Given the description of an element on the screen output the (x, y) to click on. 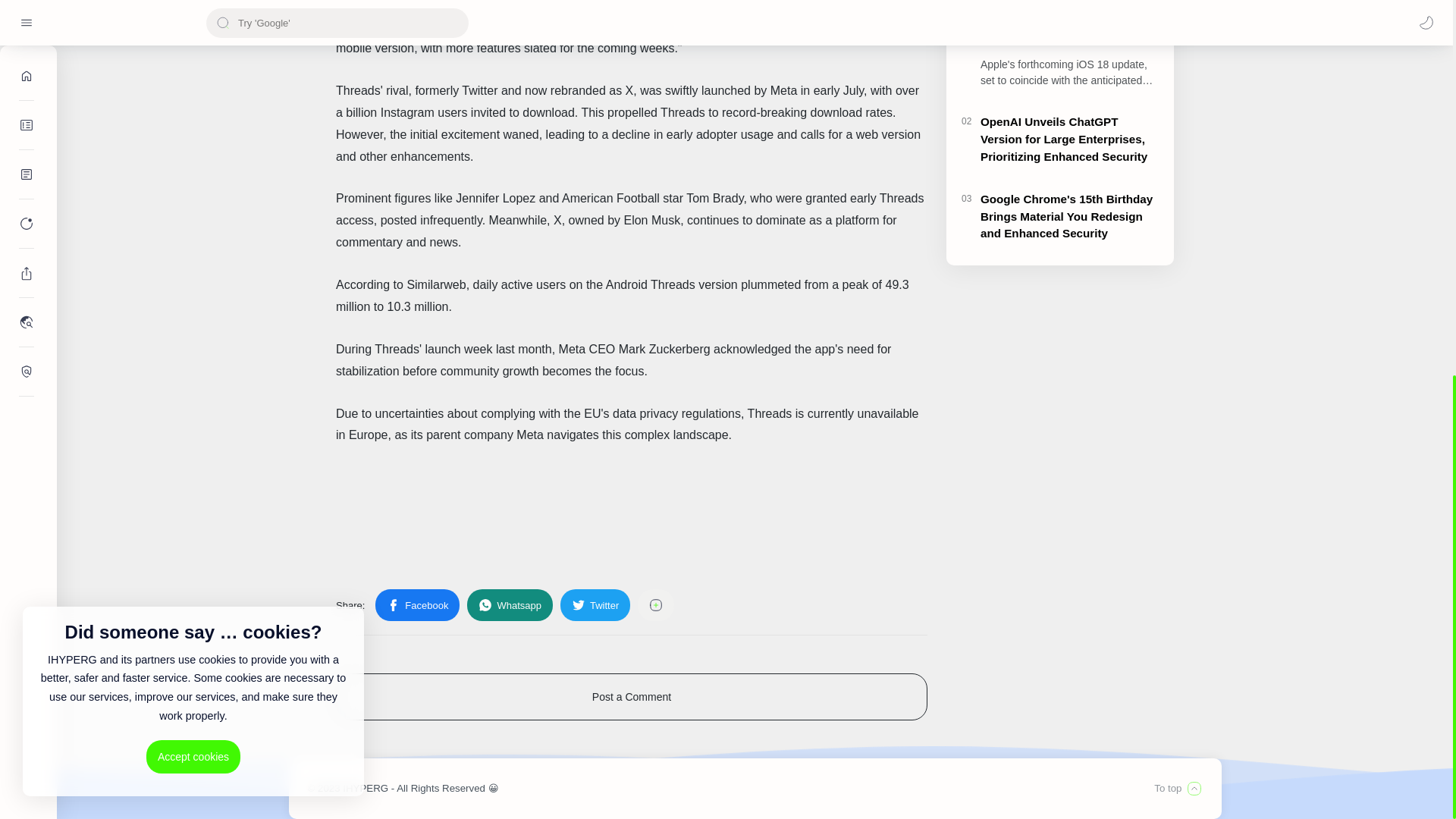
Advertisement (631, 510)
